Given the description of an element on the screen output the (x, y) to click on. 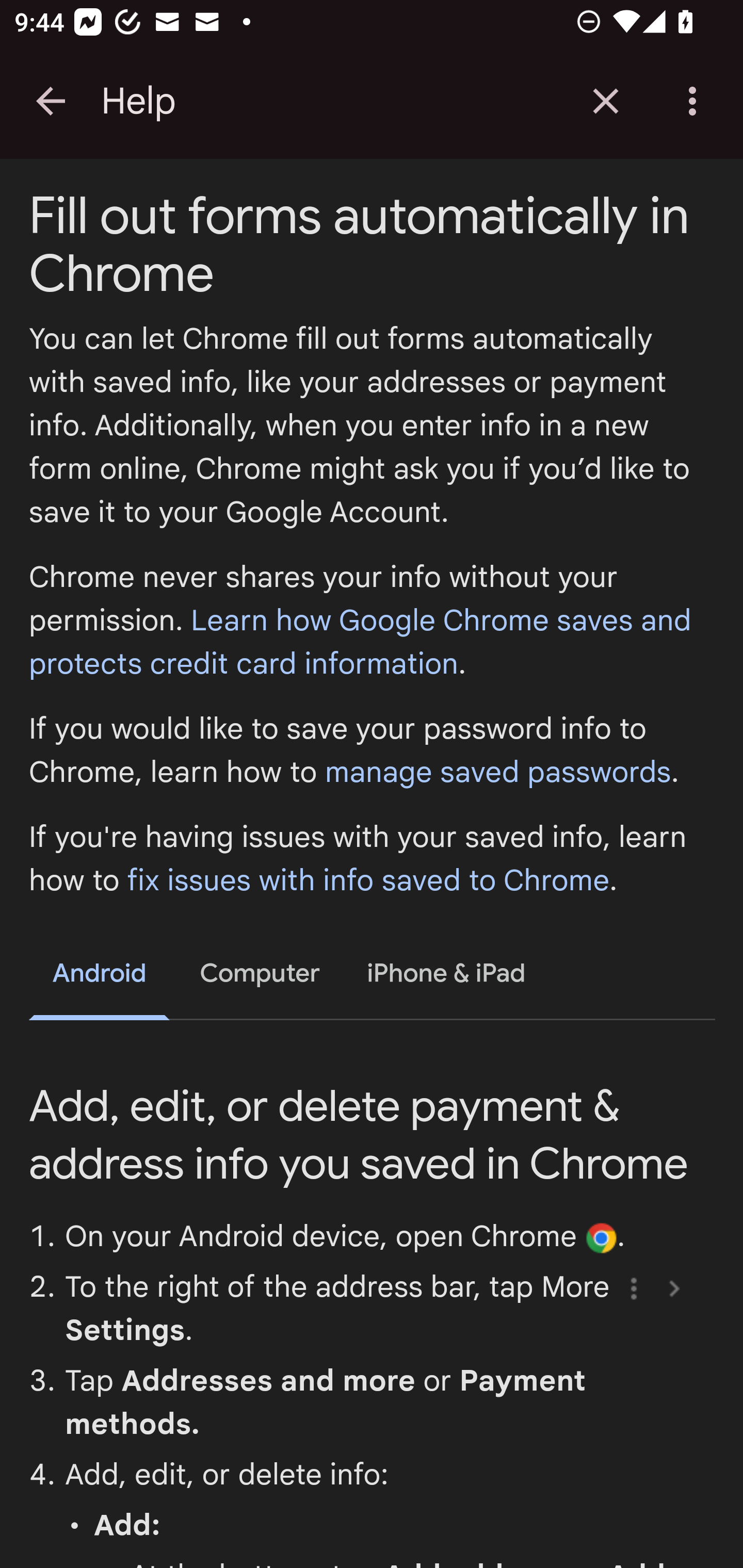
Navigate up (50, 101)
Return to Chrome (605, 101)
More options (696, 101)
manage saved passwords (497, 772)
fix issues with info saved to Chrome (368, 881)
Android (99, 976)
Computer (259, 974)
iPhone & iPad (446, 974)
